Given the description of an element on the screen output the (x, y) to click on. 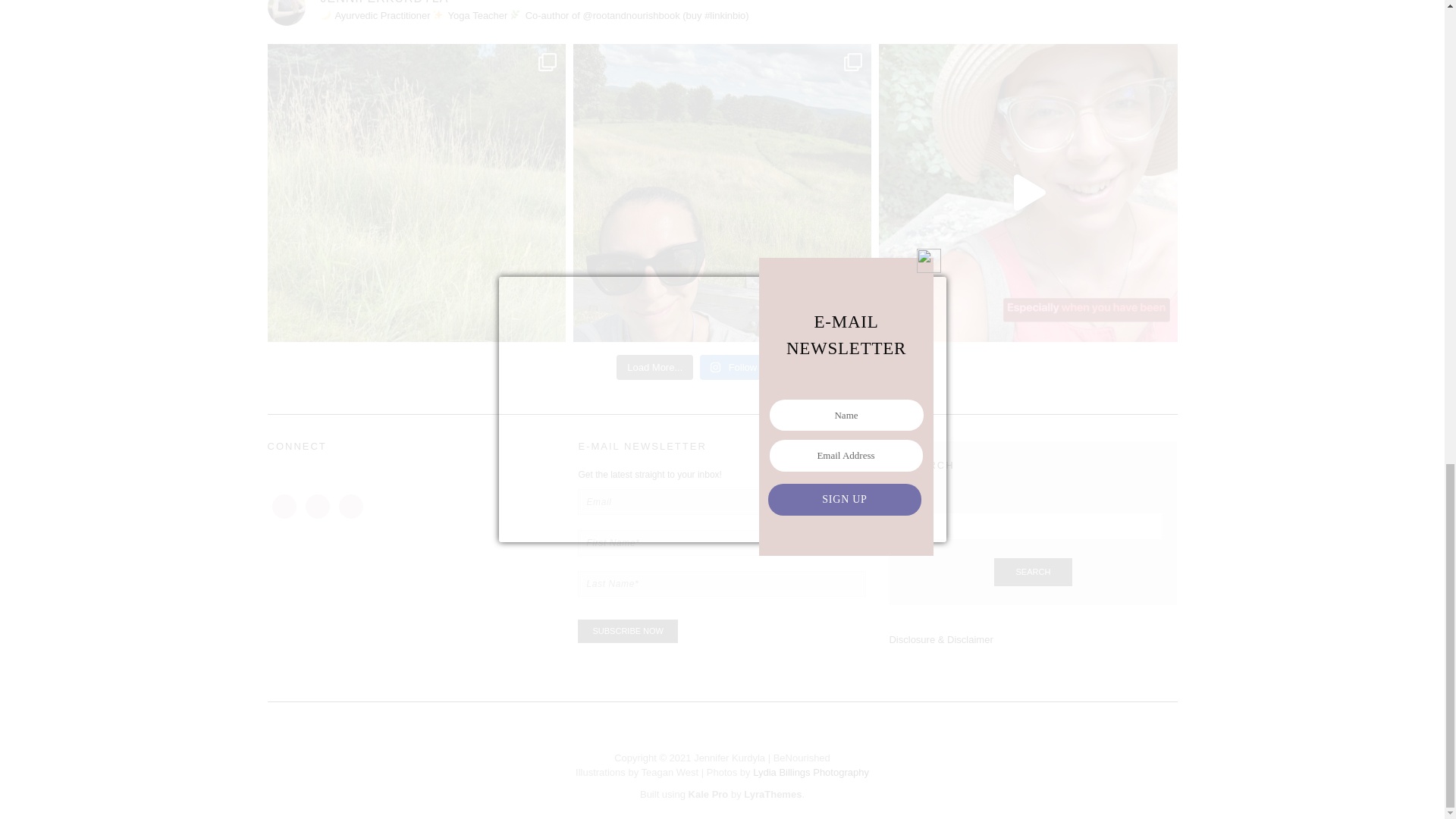
Load More... (654, 367)
Subscribe now (628, 630)
Follow on Instagram (764, 367)
